Given the description of an element on the screen output the (x, y) to click on. 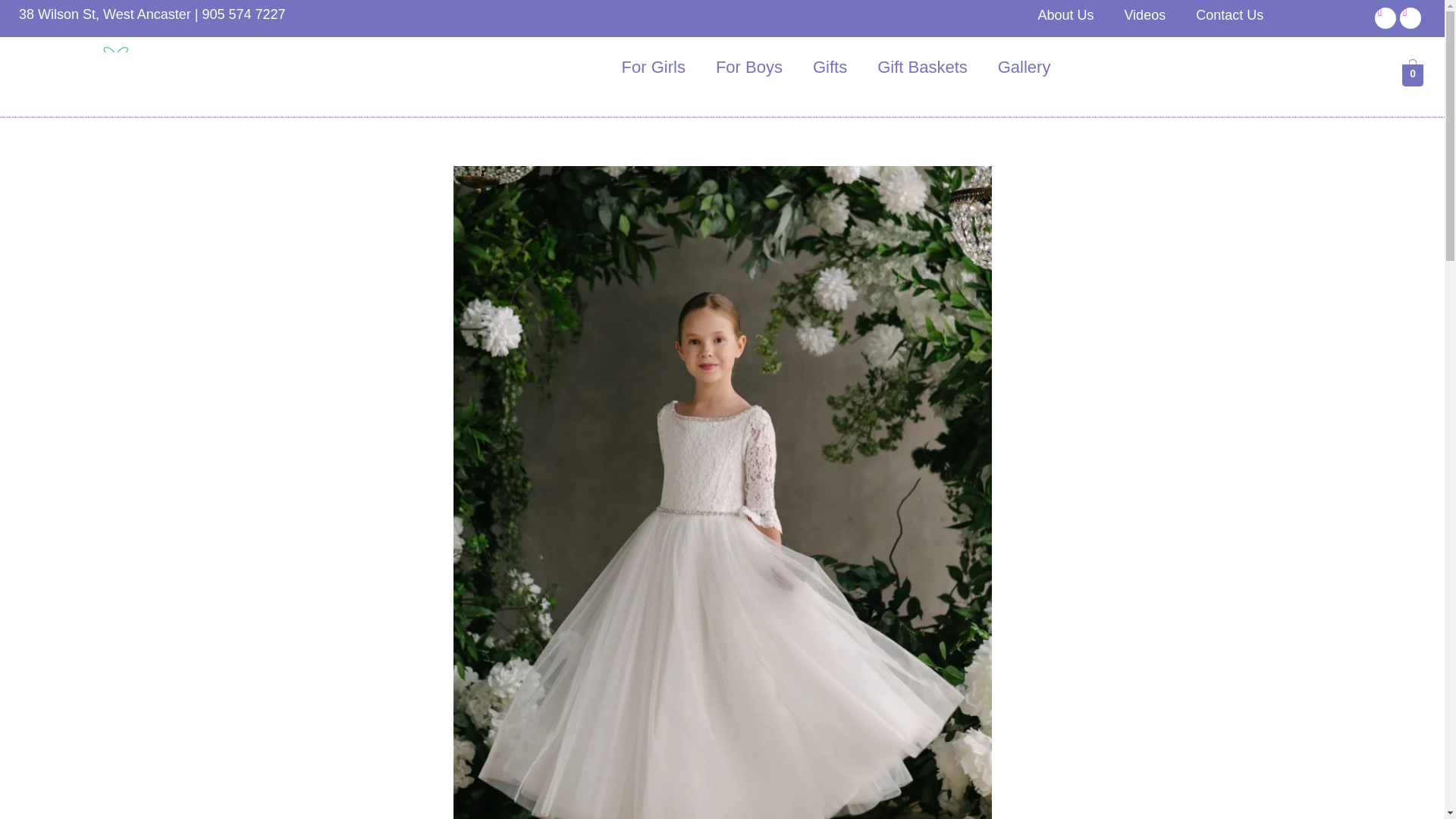
Contact Us (1229, 14)
For Girls (653, 67)
Gifts (829, 67)
Gift Baskets (921, 67)
Instagram (1410, 17)
View your shopping cart (1412, 74)
About Us (1065, 14)
Videos (1144, 14)
For Boys (748, 67)
Gallery (1023, 67)
Facebook (1385, 17)
